Given the description of an element on the screen output the (x, y) to click on. 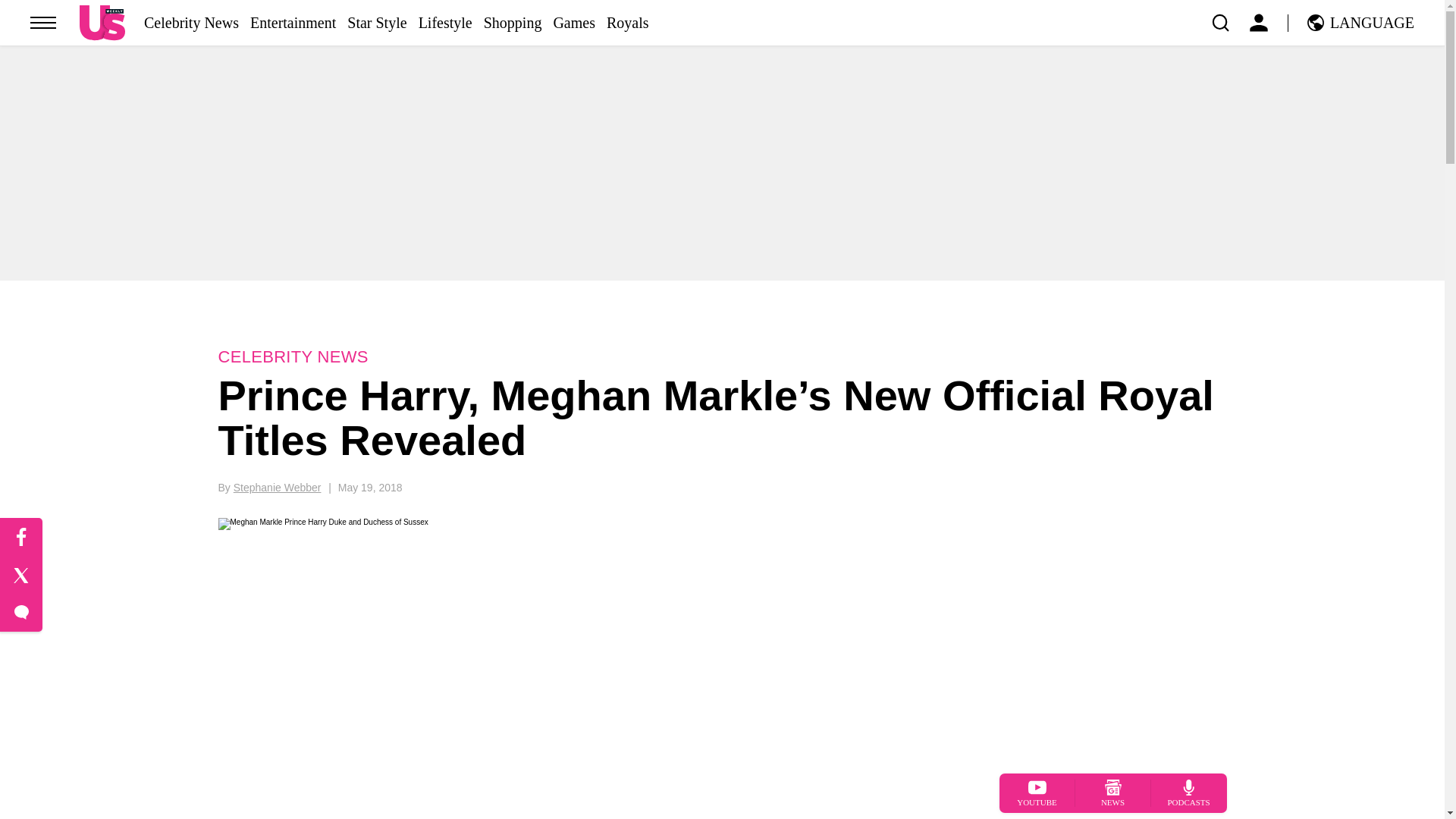
Games (574, 22)
Lifestyle (445, 22)
Us Weekly Magazine (102, 22)
Celebrity News (191, 22)
Click to share on Facebook (21, 537)
Shopping (512, 22)
Star Style (376, 22)
Entertainment (293, 22)
Posts by Stephanie Webber (276, 487)
Click to share on Twitter (21, 575)
